Given the description of an element on the screen output the (x, y) to click on. 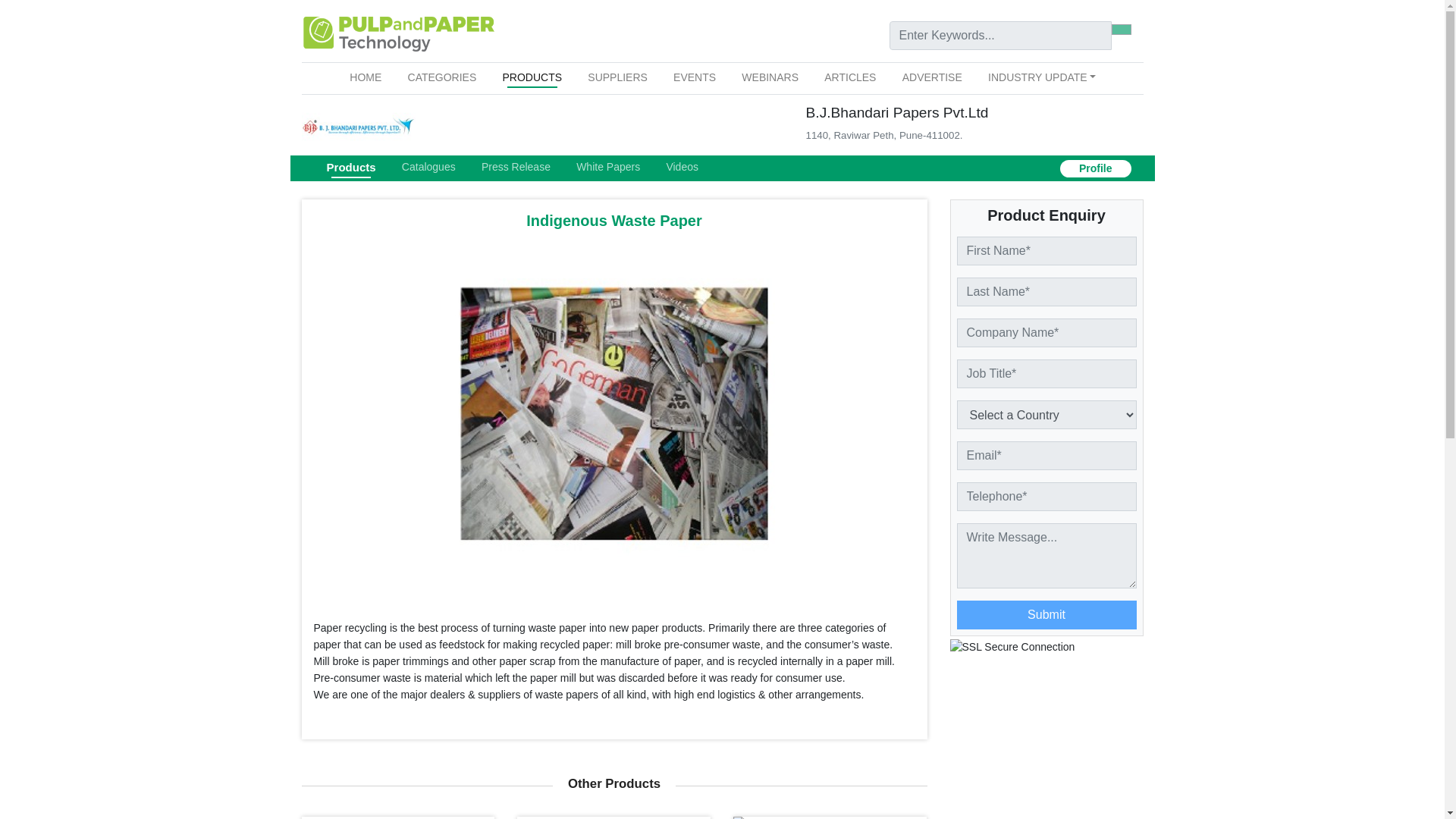
ADVERTISE (932, 77)
White Papers (608, 167)
Videos (681, 167)
Profile (1095, 167)
PRODUCTS (532, 77)
EVENTS (694, 77)
ARTICLES (850, 77)
Press Release (516, 167)
Catalogues (428, 167)
Other Products (614, 783)
Submit (1046, 614)
Products (350, 167)
Pulpandpaper-Technology (398, 34)
